Given the description of an element on the screen output the (x, y) to click on. 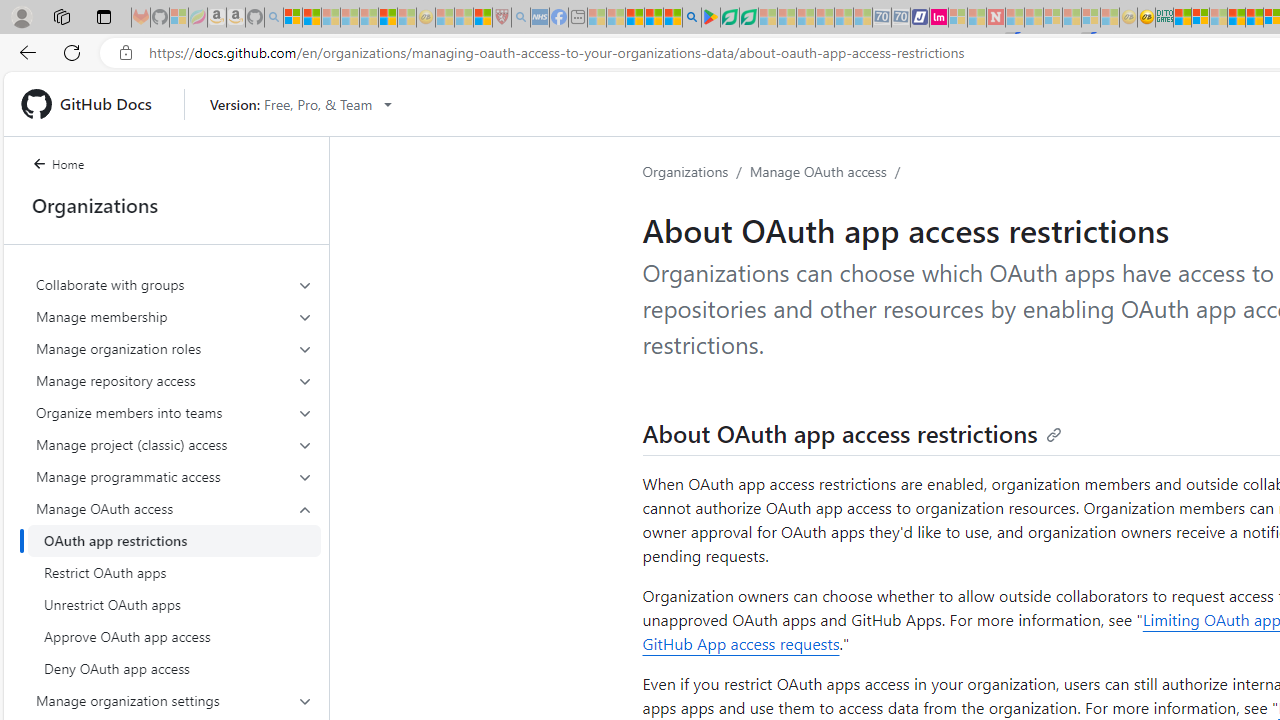
Approve OAuth app access (174, 636)
Kinda Frugal - MSN (1254, 17)
Manage membership (174, 316)
Local - MSN (482, 17)
Manage repository access (174, 380)
About OAuth app access restrictions (852, 432)
